Given the description of an element on the screen output the (x, y) to click on. 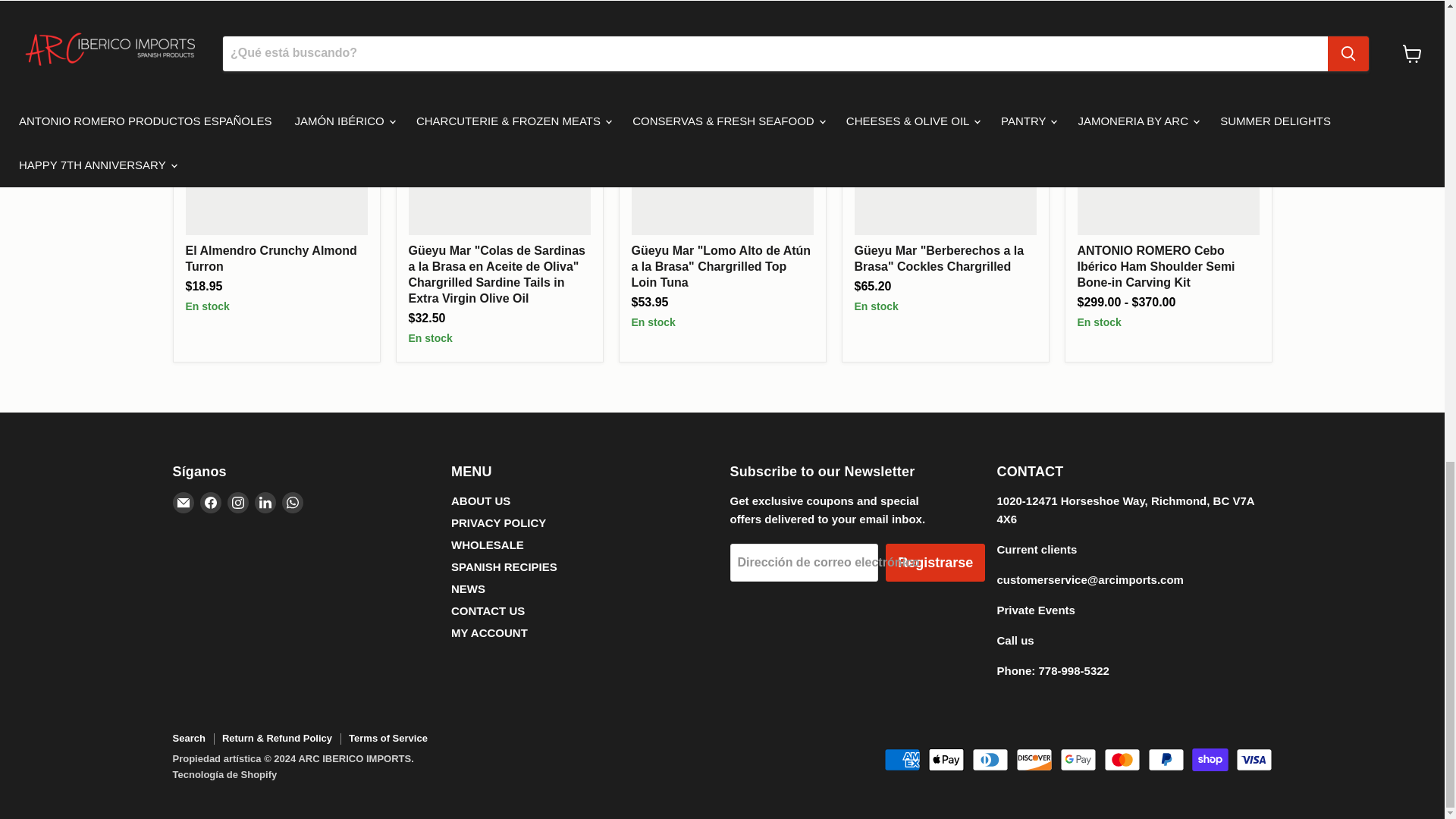
Facebook (210, 502)
